Given the description of an element on the screen output the (x, y) to click on. 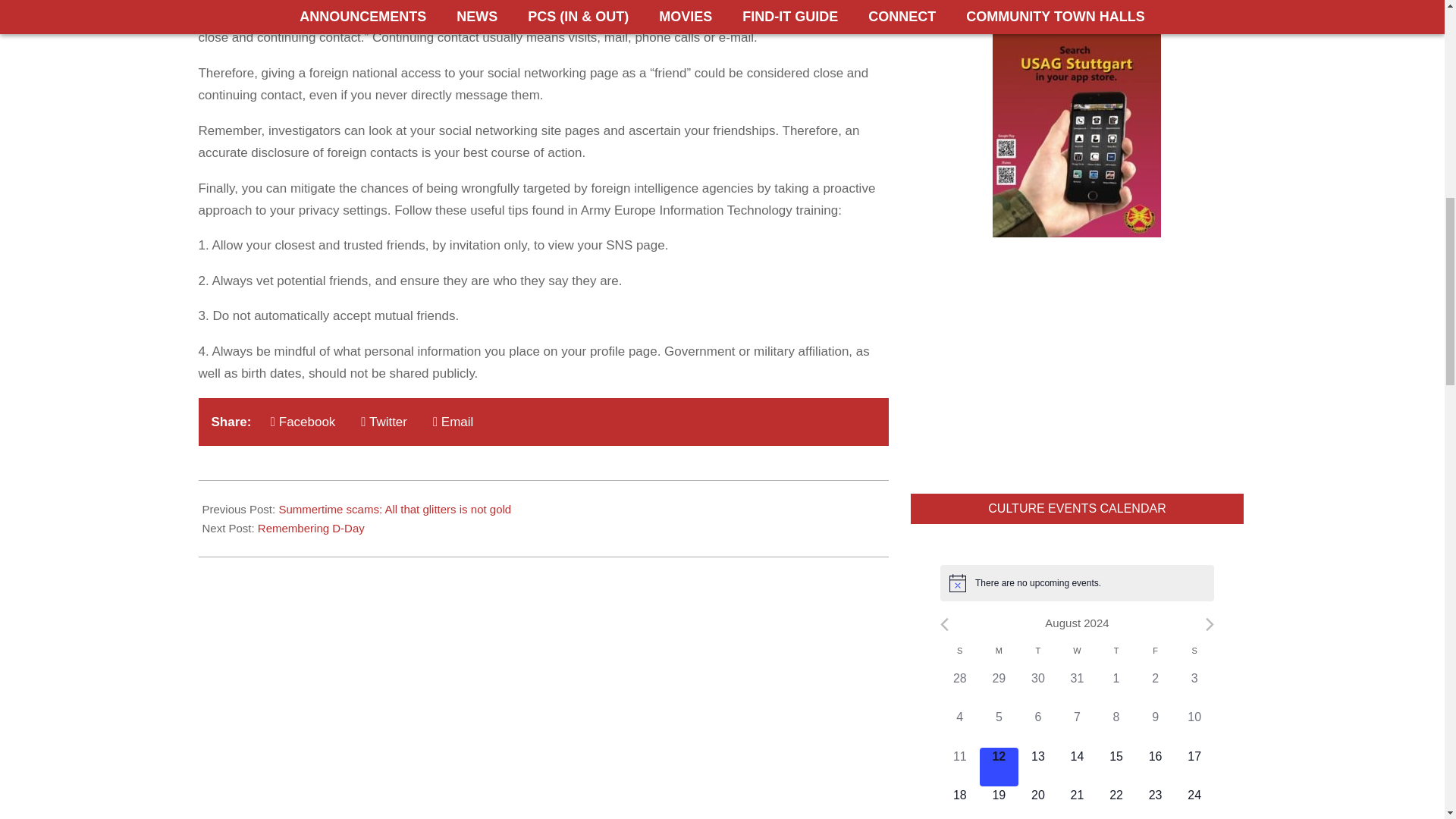
3rd party ad content (1076, 365)
Share on Facebook (302, 422)
Share via Email (452, 422)
Share on Twitter (384, 422)
